Given the description of an element on the screen output the (x, y) to click on. 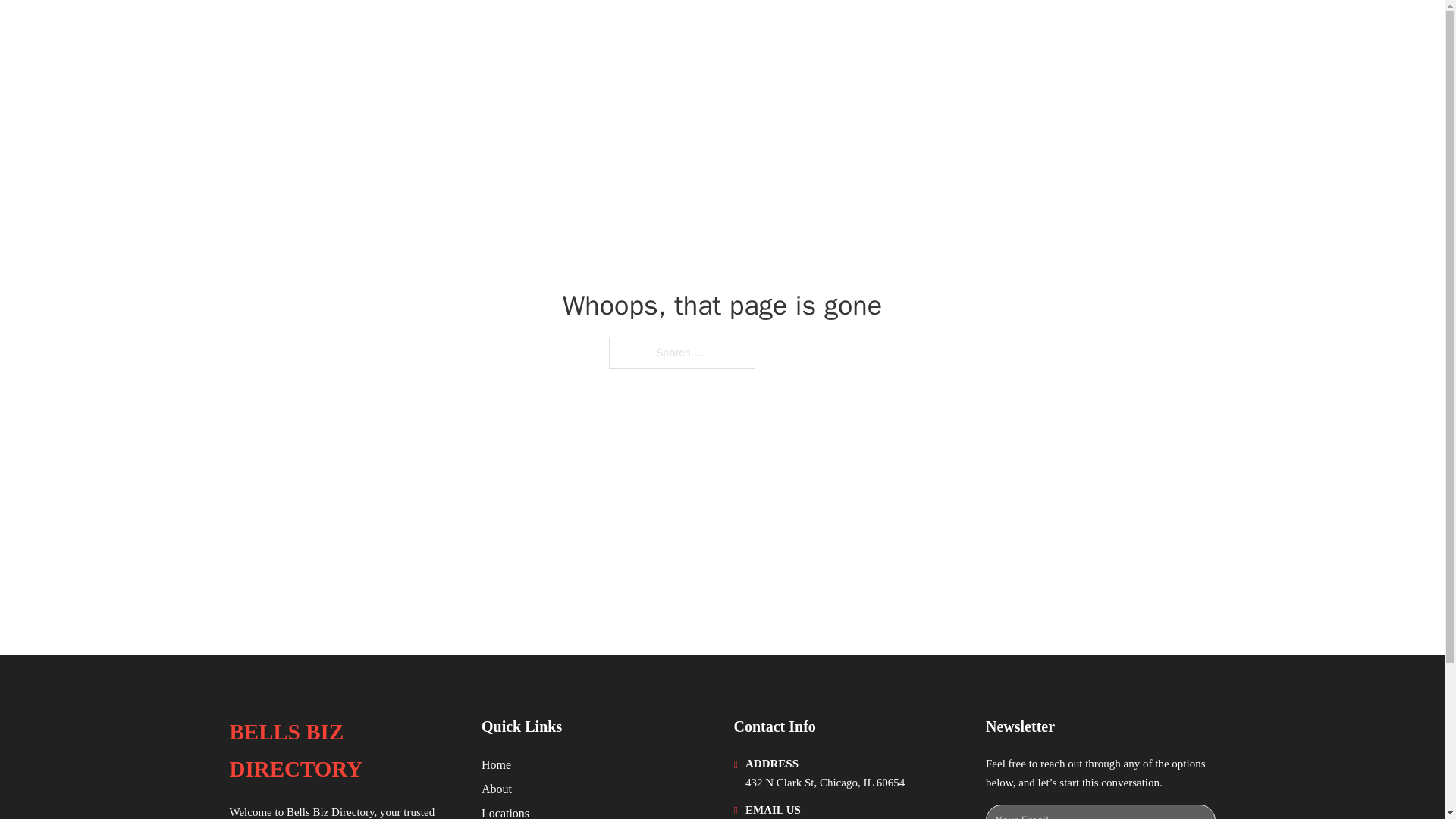
HOME (1002, 31)
BELLS BIZ DIRECTORY (343, 750)
Locations (505, 811)
LOCATIONS (1075, 31)
About (496, 788)
Home (496, 764)
BELLS BIZ DIRECTORY (368, 31)
